Given the description of an element on the screen output the (x, y) to click on. 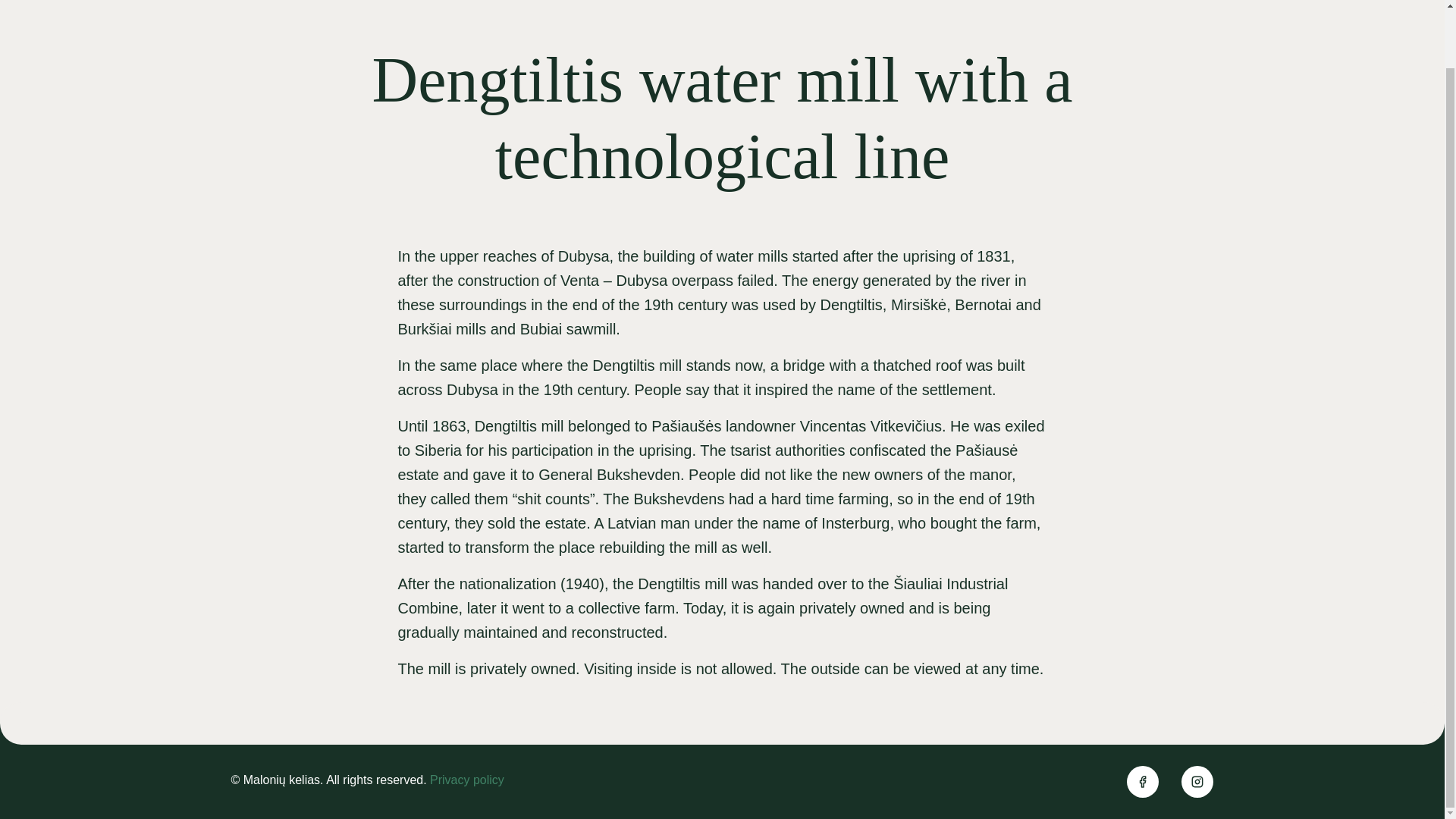
Privacy policy (466, 779)
